Given the description of an element on the screen output the (x, y) to click on. 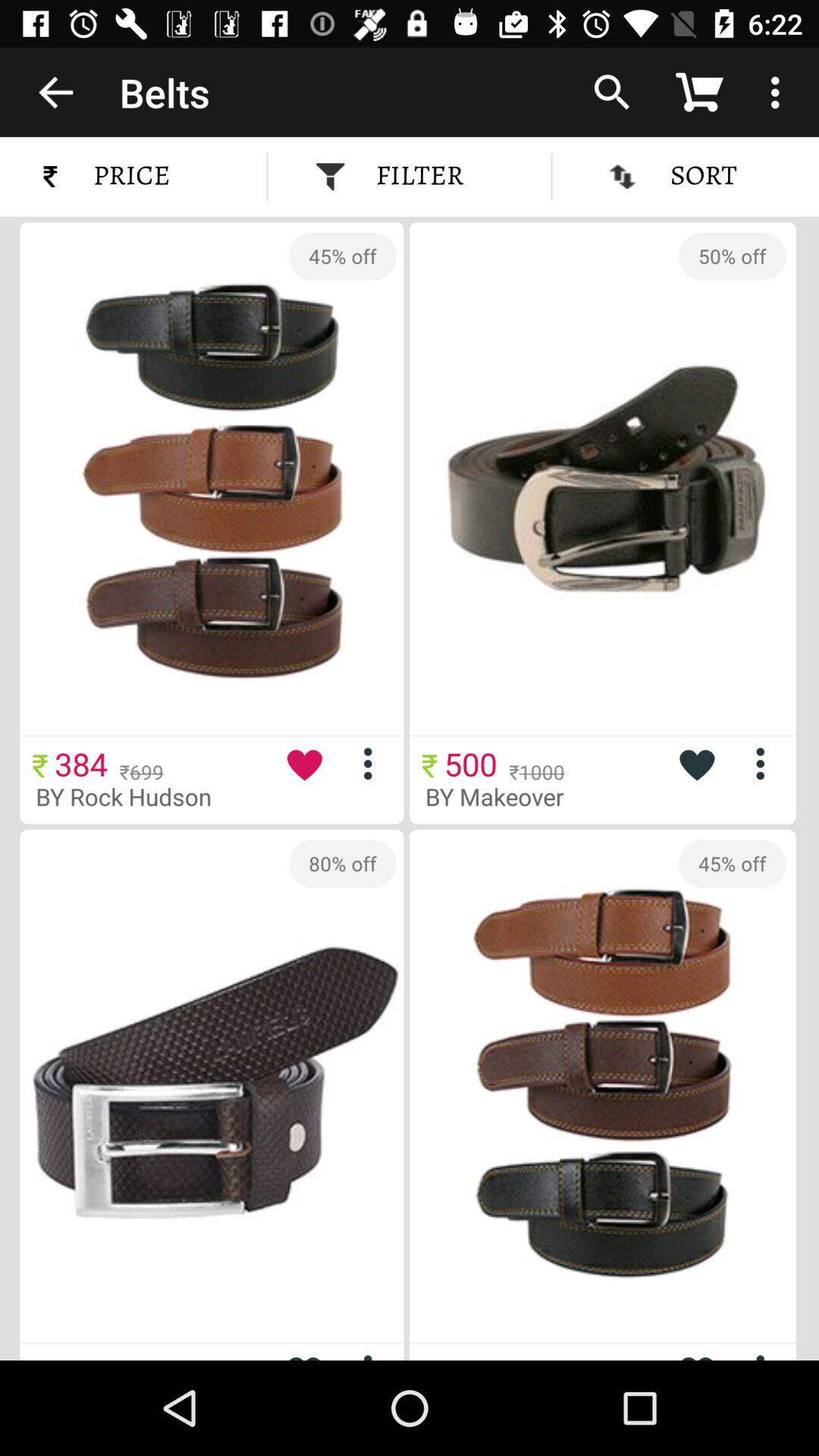
swipe to by makeover (506, 796)
